Given the description of an element on the screen output the (x, y) to click on. 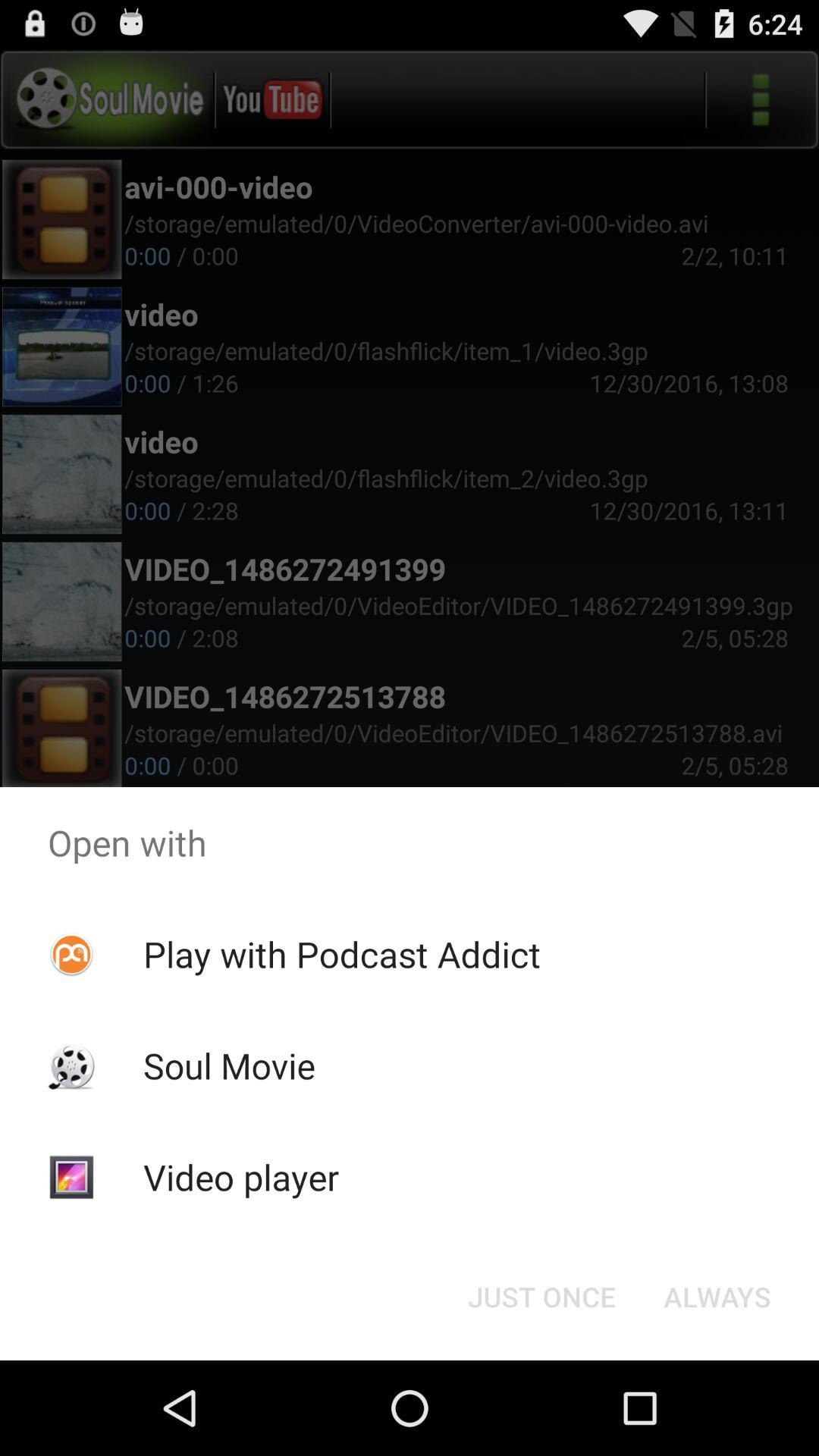
turn off item above the soul movie icon (341, 953)
